Given the description of an element on the screen output the (x, y) to click on. 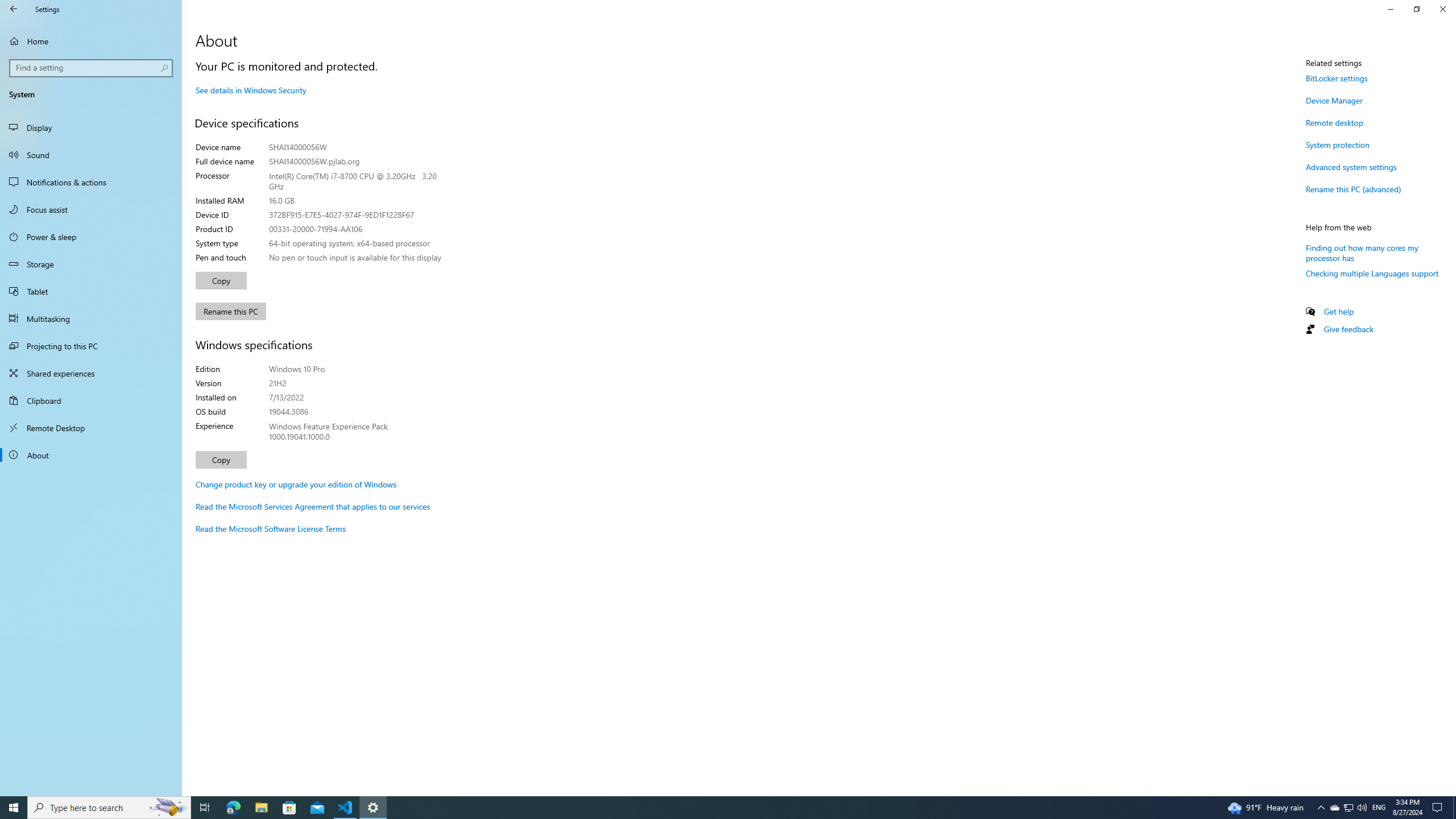
Focus assist (91, 208)
See details in Windows Security (251, 89)
Copy (221, 459)
Get help (1338, 311)
System protection (1338, 144)
